Given the description of an element on the screen output the (x, y) to click on. 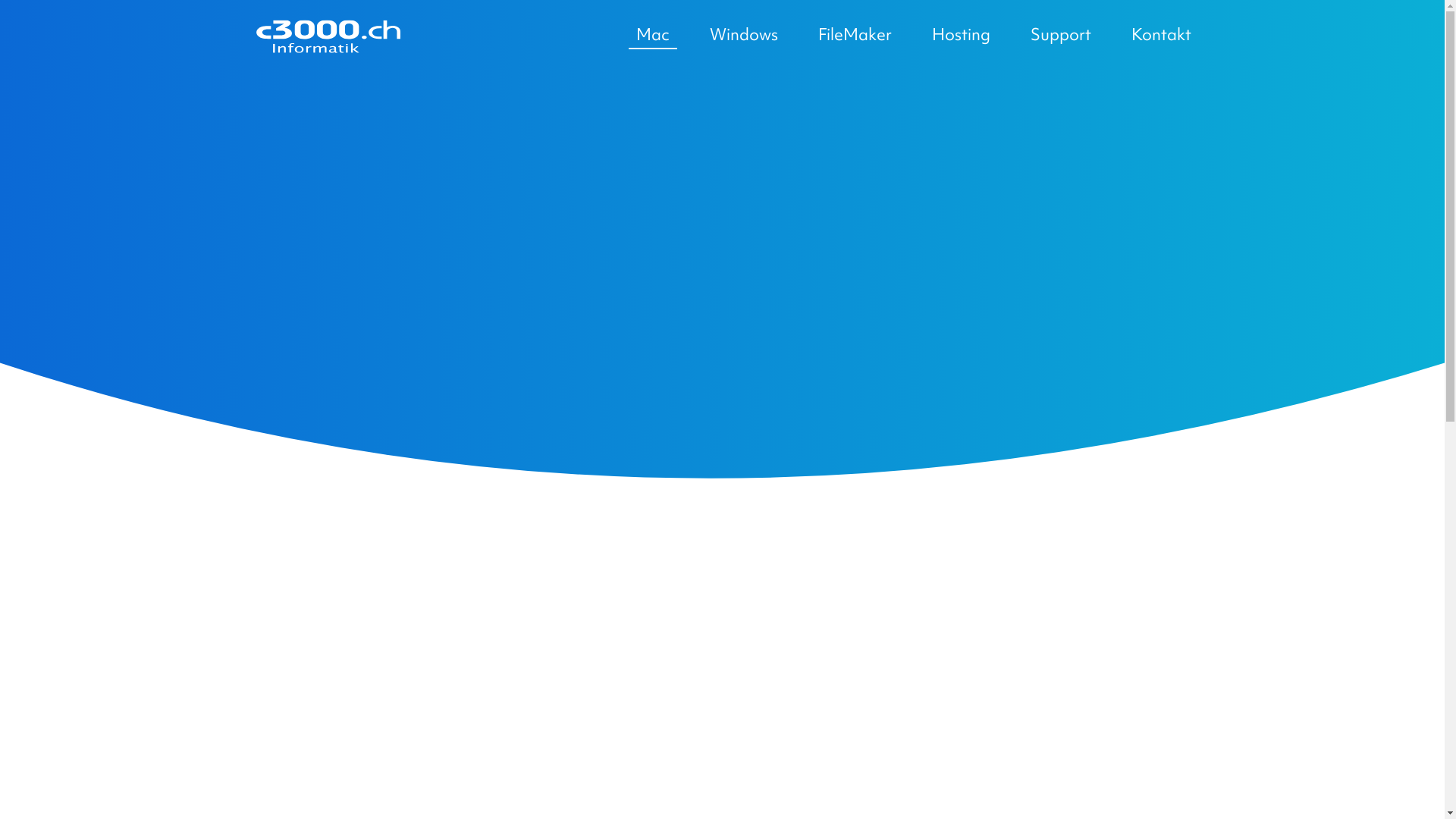
Mac Element type: text (651, 35)
Windows Element type: text (743, 34)
FileMaker Element type: text (853, 34)
Home Element type: hover (328, 37)
Support Element type: text (1060, 34)
Kontakt Element type: text (1157, 34)
Hosting Element type: text (960, 34)
